Given the description of an element on the screen output the (x, y) to click on. 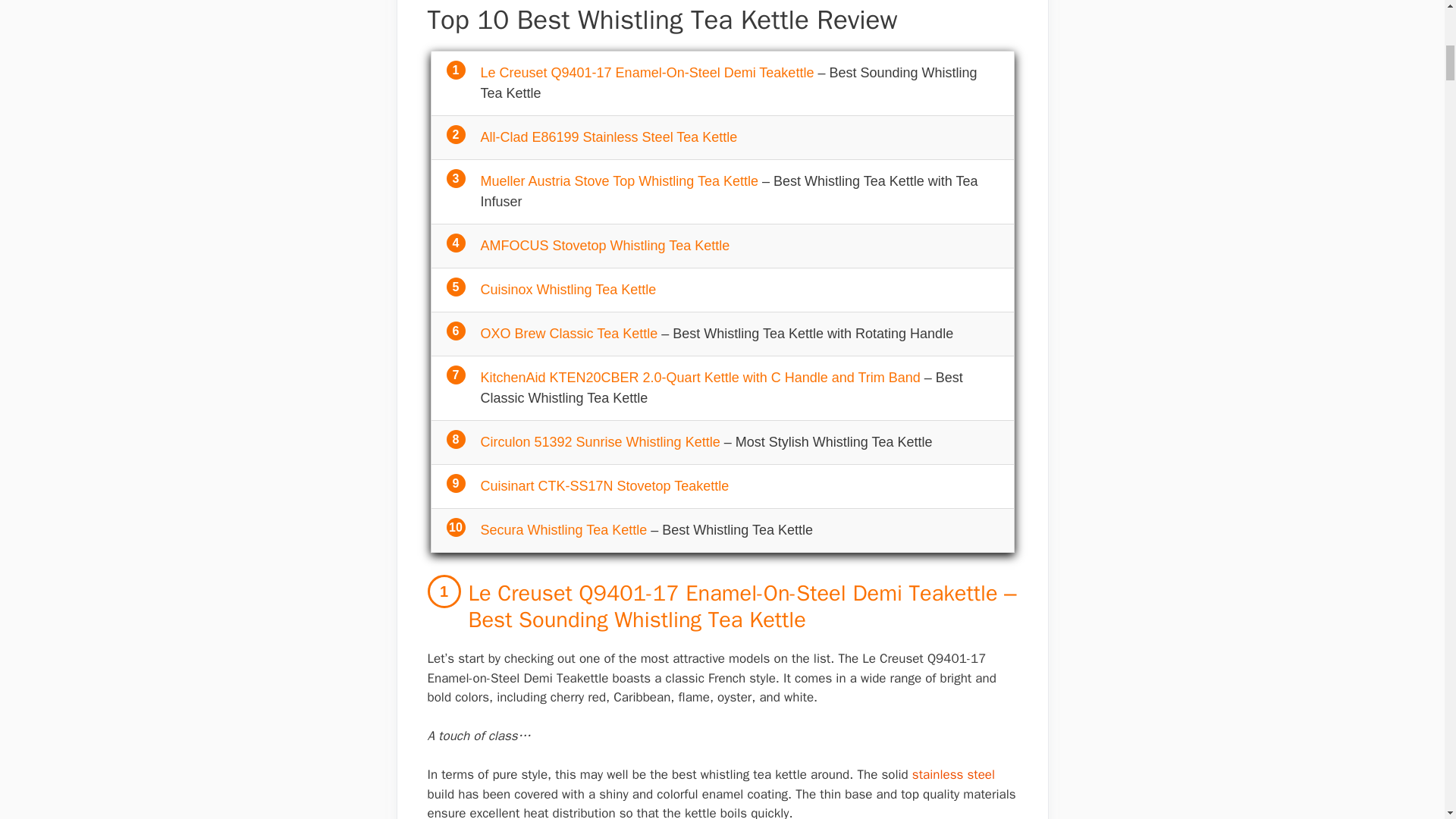
Secura Whistling Tea Kettle (563, 529)
Cuisinox Whistling Tea Kettle (568, 289)
AMFOCUS Stovetop Whistling Tea Kettle (605, 245)
Scroll back to top (1406, 720)
All-Clad E86199 Stainless Steel Tea Kettle (609, 136)
Circulon 51392 Sunrise Whistling Kettle (600, 441)
Mueller Austria Stove Top Whistling Tea Kettle (619, 181)
Cuisinart CTK-SS17N Stovetop Teakettle (604, 485)
stainless steel (953, 774)
Le Creuset Q9401-17 Enamel-On-Steel Demi Teakettle (646, 72)
OXO Brew Classic Tea Kettle (569, 333)
